Given the description of an element on the screen output the (x, y) to click on. 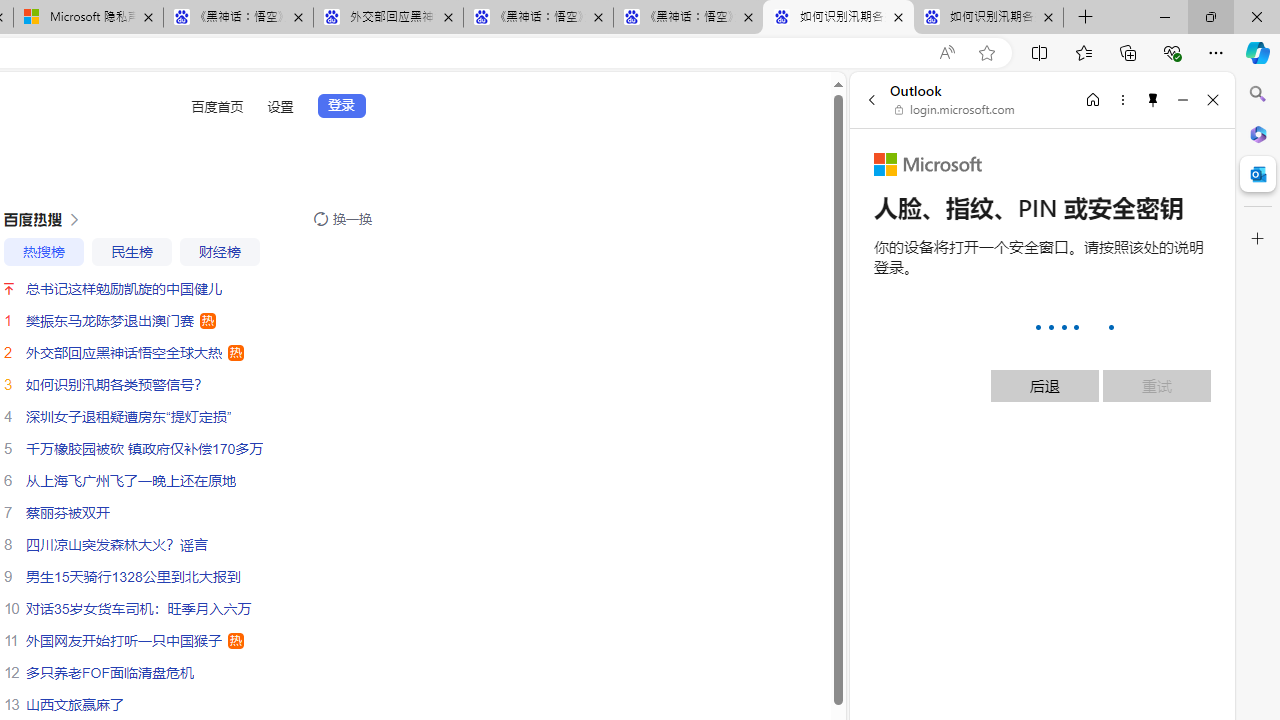
login.microsoft.com (955, 110)
